Given the description of an element on the screen output the (x, y) to click on. 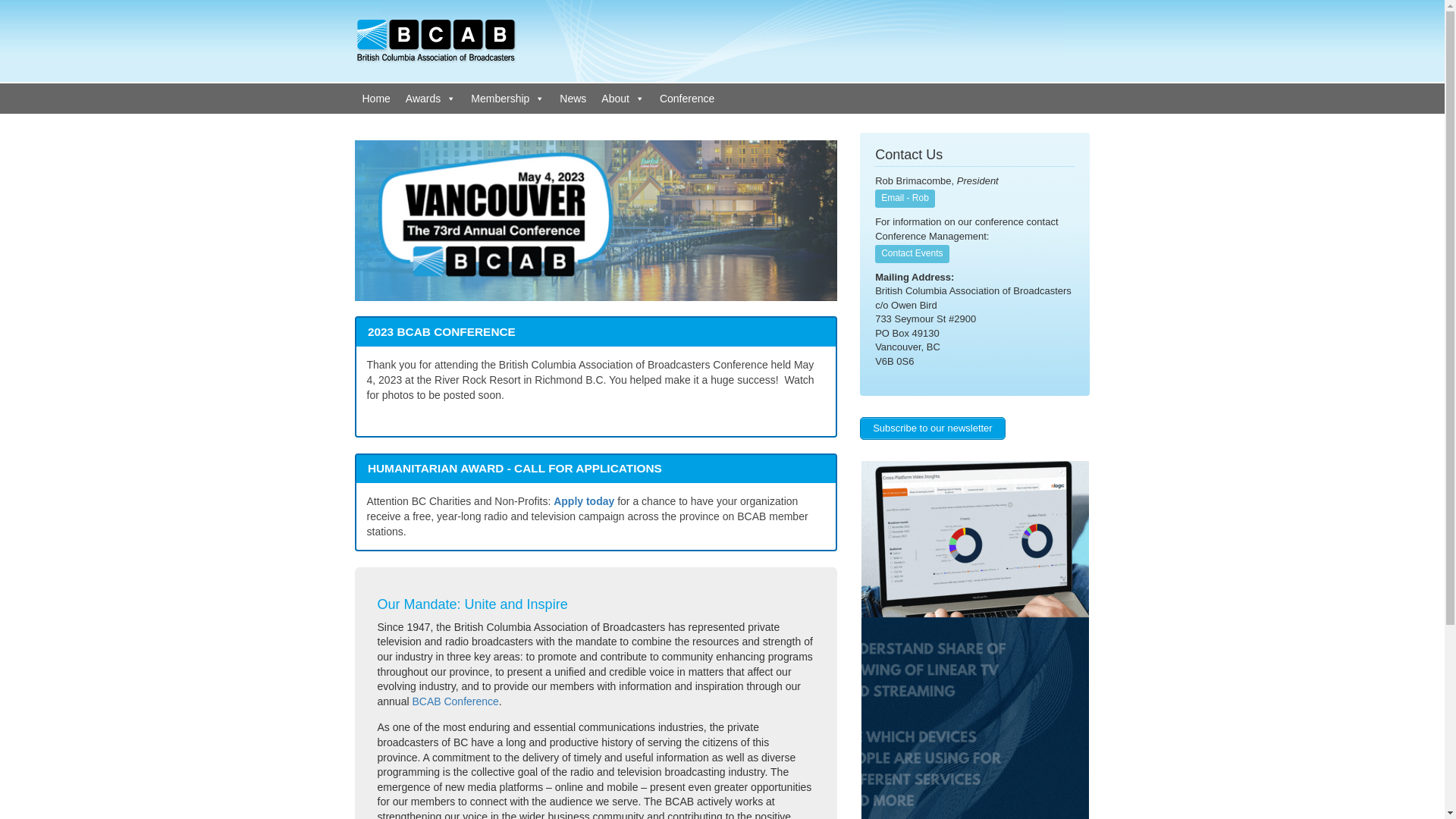
British Columbia Association of Broadcasters Element type: hover (435, 40)
BCAB Conference Element type: text (454, 701)
News Element type: text (572, 98)
Conference Element type: text (686, 98)
Contact Events Element type: text (911, 253)
Membership Element type: text (507, 98)
About Element type: text (622, 98)
Apply today Element type: text (583, 501)
Subscribe to our newsletter Element type: text (932, 428)
Awards Element type: text (430, 98)
Email - Rob Element type: text (905, 198)
Home Element type: text (376, 98)
British Columbia Association of Broadcasters Element type: hover (435, 40)
